Given the description of an element on the screen output the (x, y) to click on. 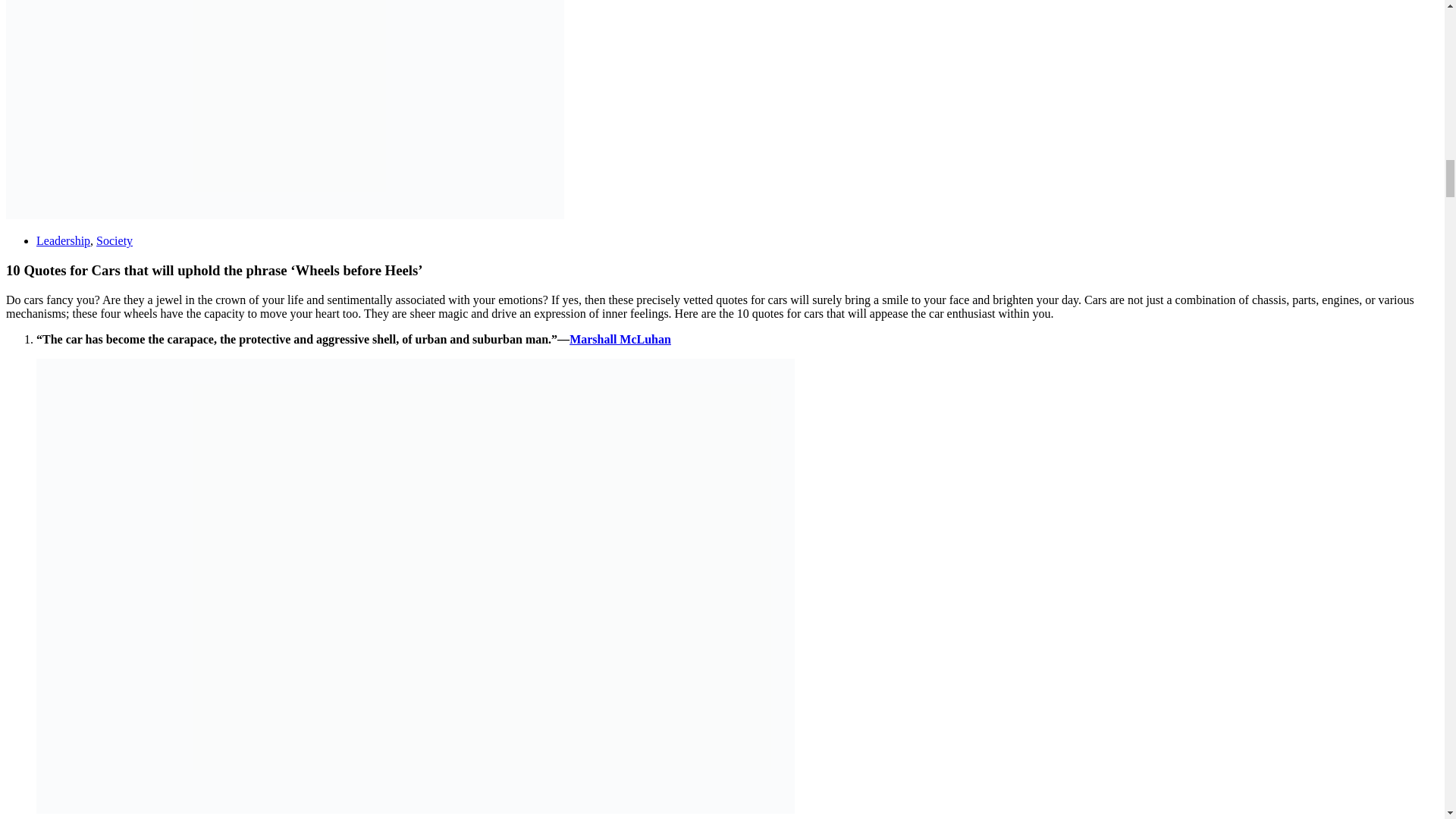
Society (114, 240)
Leadership (63, 240)
Marshall McLuhan (620, 338)
